Given the description of an element on the screen output the (x, y) to click on. 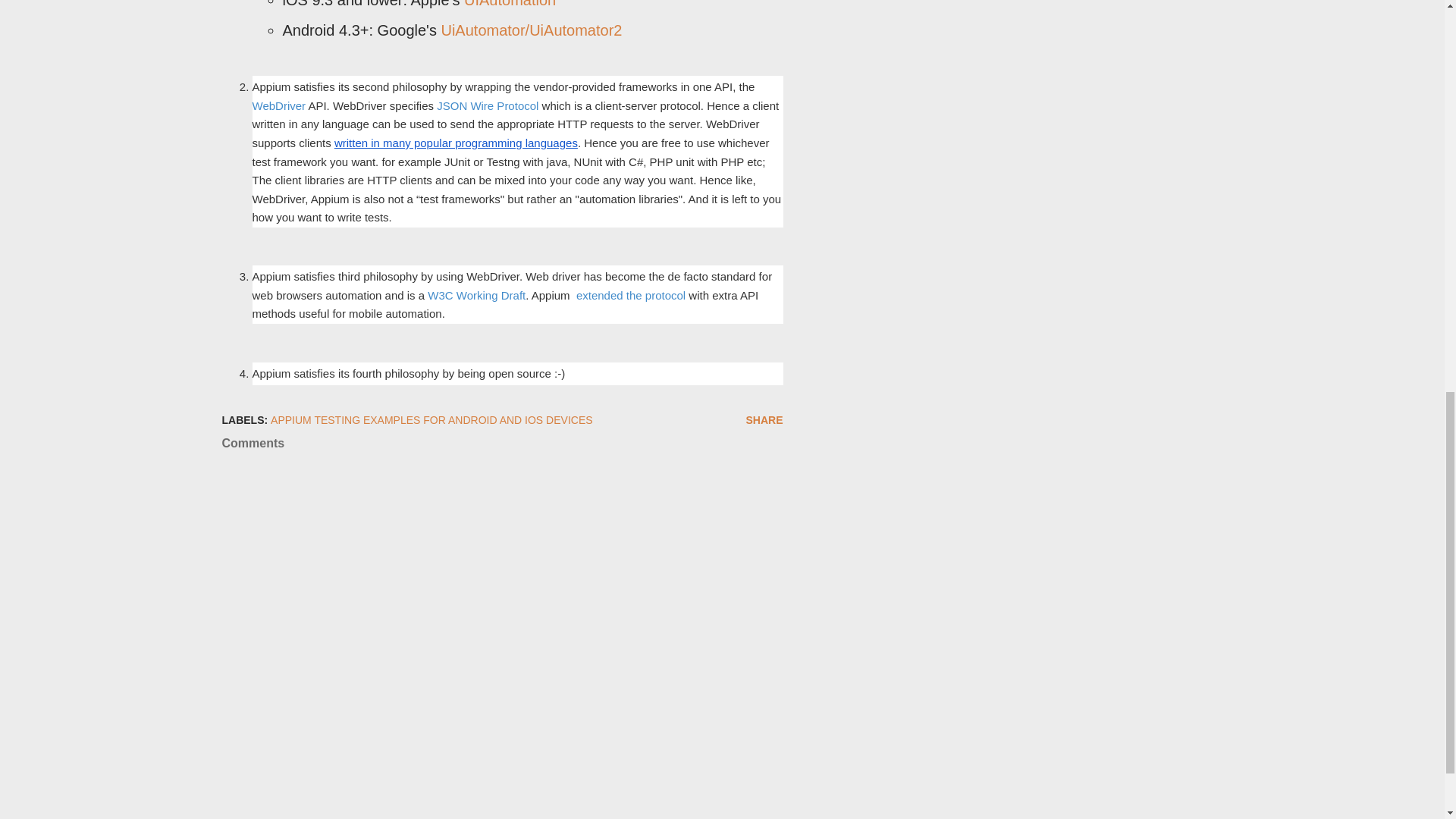
written in many popular programming languages (456, 142)
UIAutomation (510, 4)
extended the protocol (630, 295)
WebDriver (278, 105)
SHARE (764, 419)
W3C Working Draft (476, 295)
APPIUM TESTING EXAMPLES FOR ANDROID AND IOS DEVICES (431, 419)
JSON Wire Protocol (487, 105)
